Given the description of an element on the screen output the (x, y) to click on. 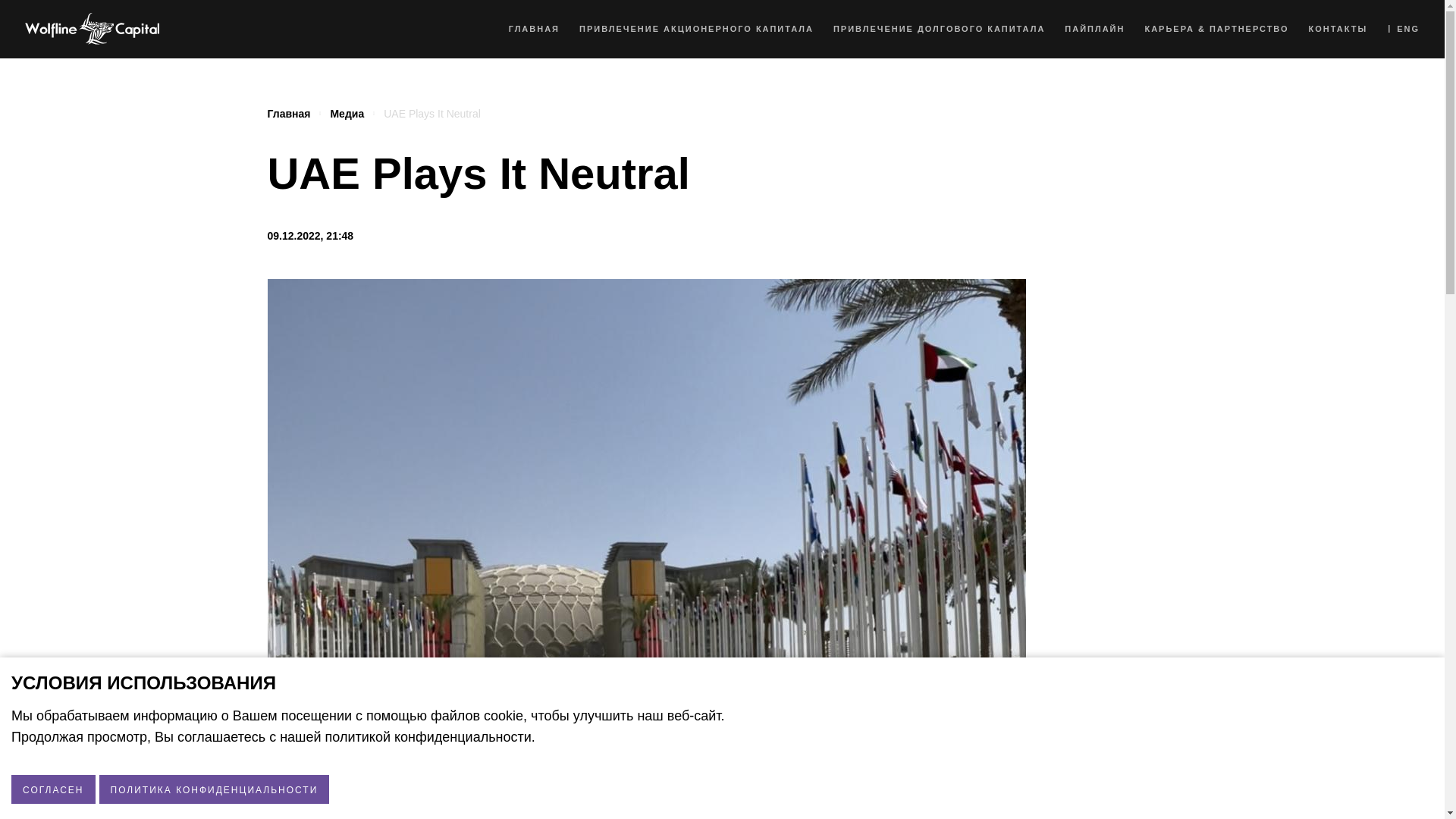
UAE Plays It Neutral (432, 114)
ENG (1403, 28)
